Given the description of an element on the screen output the (x, y) to click on. 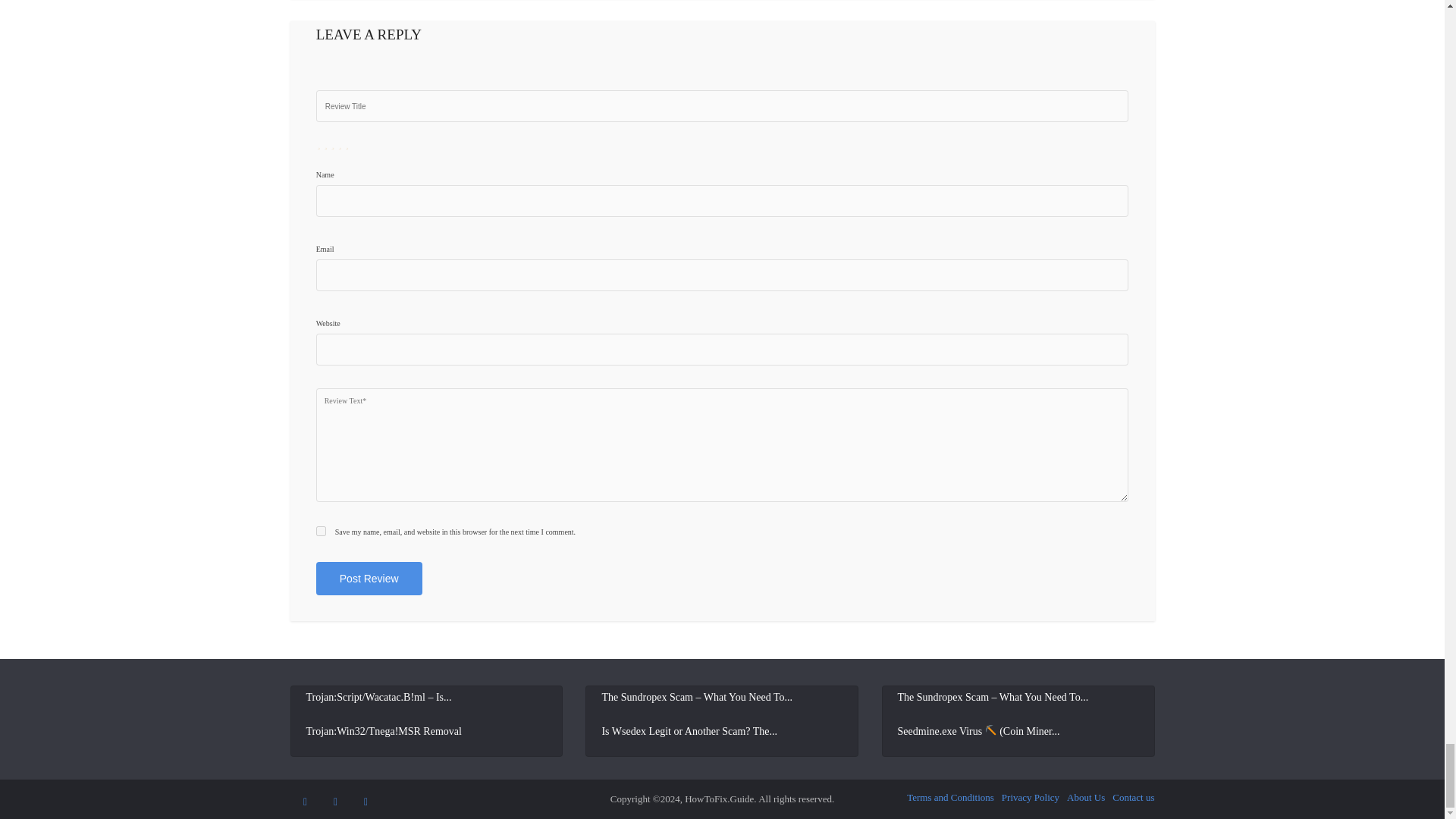
Post Review (368, 578)
yes (320, 531)
